Given the description of an element on the screen output the (x, y) to click on. 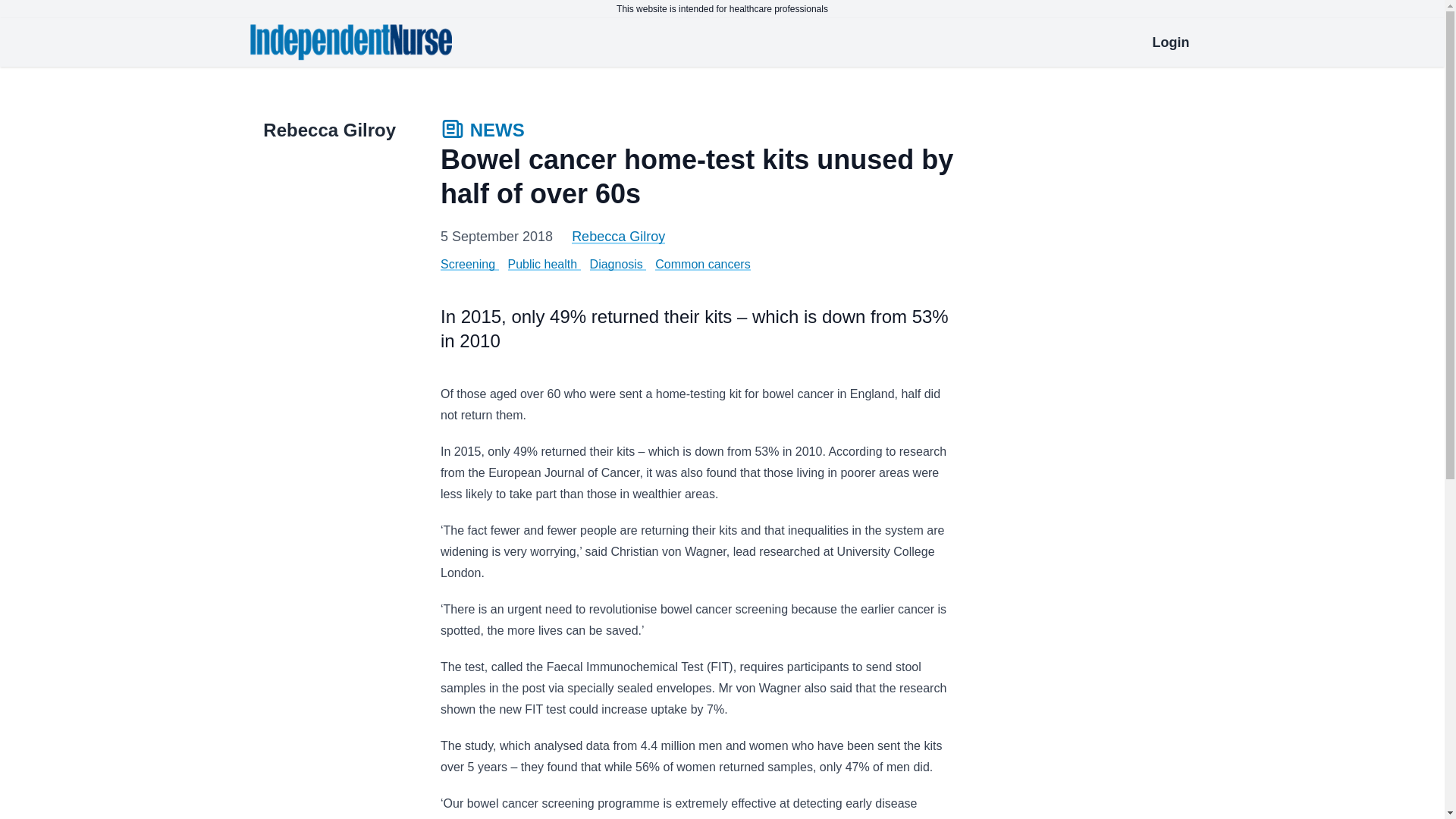
NEWS (482, 132)
Login (1171, 41)
Rebecca Gilroy (618, 236)
